Given the description of an element on the screen output the (x, y) to click on. 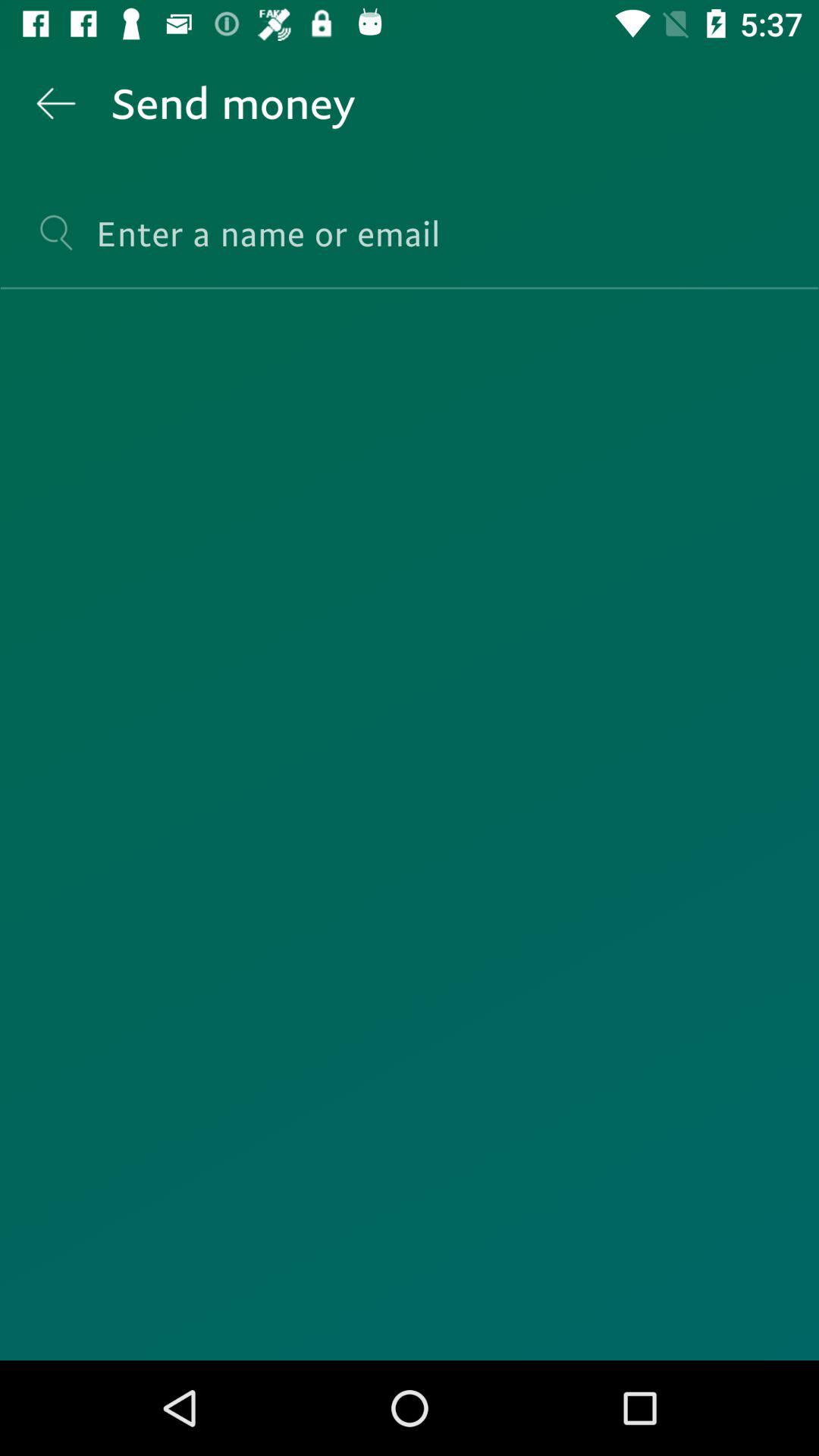
enter receiver information (409, 246)
